Given the description of an element on the screen output the (x, y) to click on. 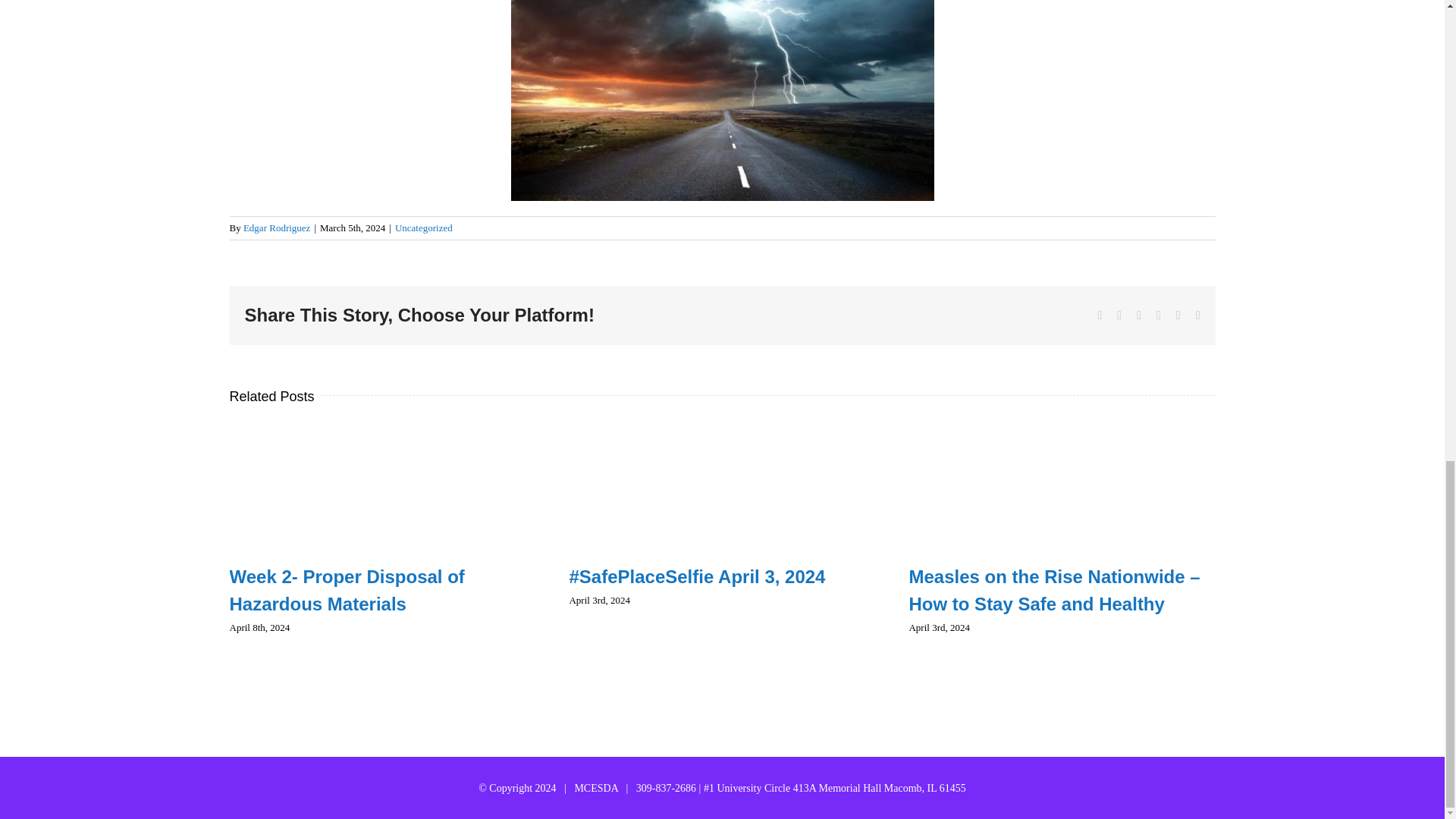
Week 2- Proper Disposal of Hazardous Materials (346, 590)
Edgar Rodriguez (276, 227)
Posts by Edgar Rodriguez (276, 227)
Uncategorized (423, 227)
Week 2- Proper Disposal of Hazardous Materials (346, 590)
